Given the description of an element on the screen output the (x, y) to click on. 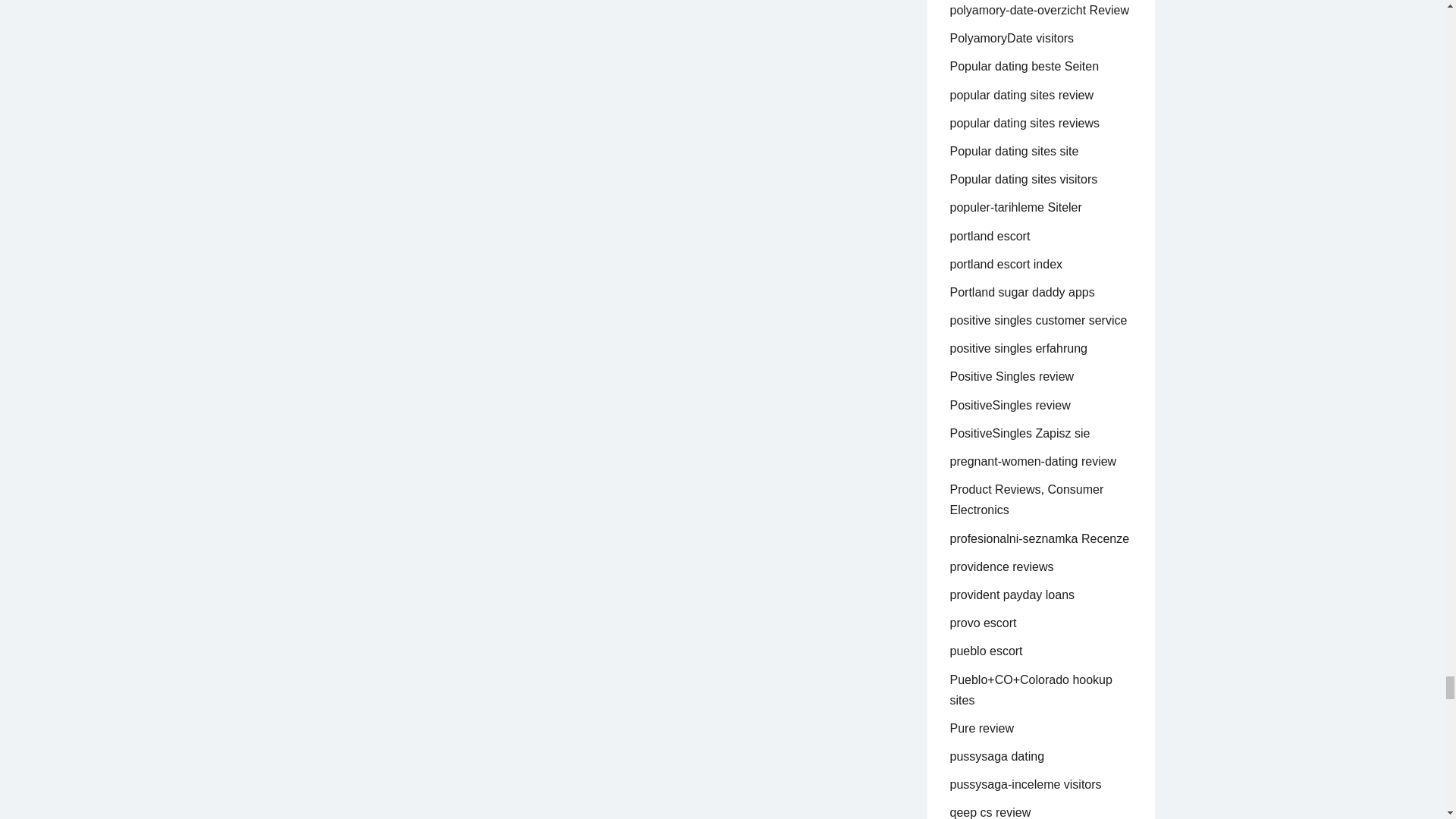
Product Reviews, Consumer Electronics (1026, 499)
